Given the description of an element on the screen output the (x, y) to click on. 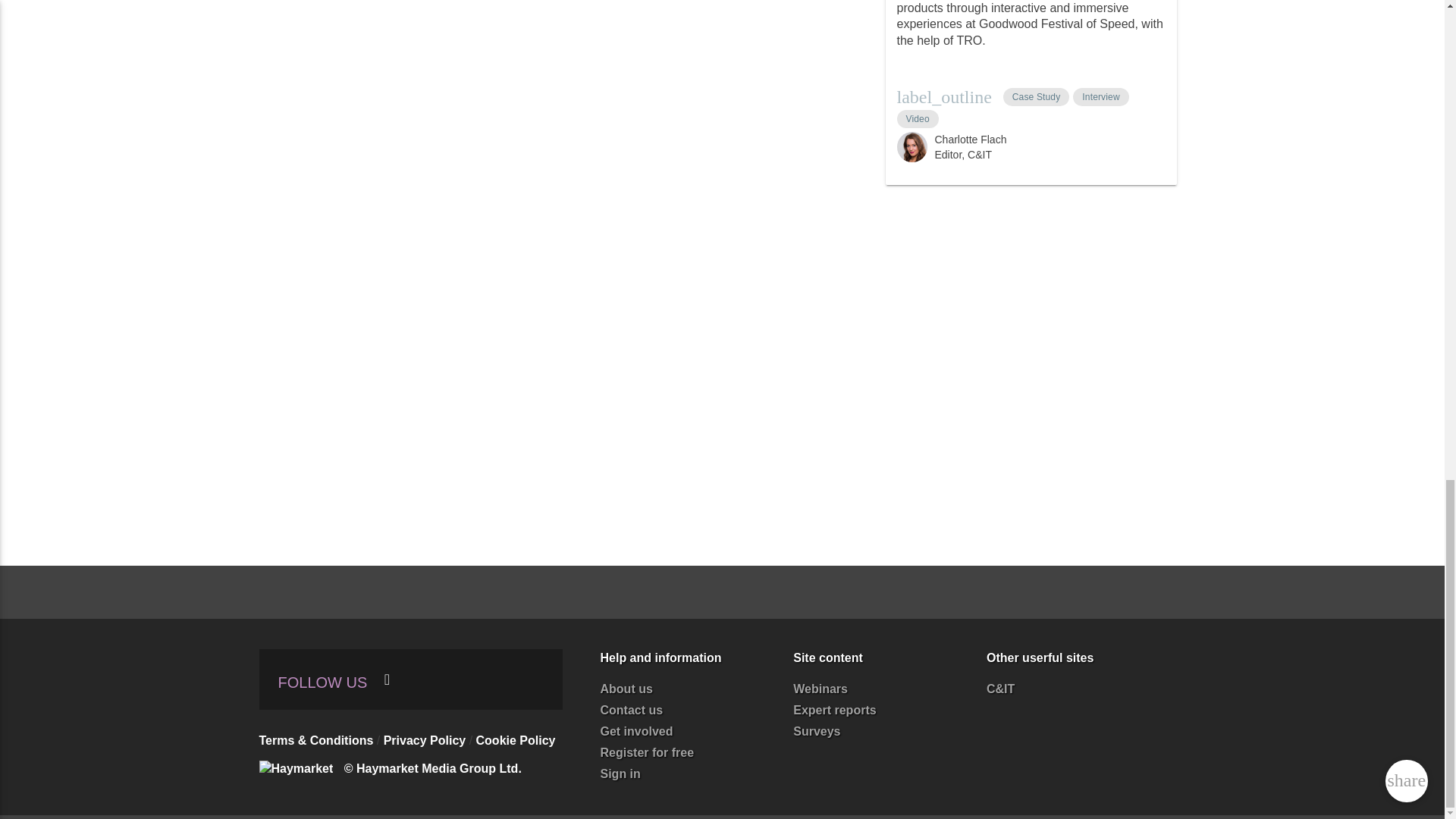
Get involved (635, 730)
Surveys (816, 730)
Contact us (631, 709)
About us (625, 688)
Privacy Policy (424, 739)
Expert reports (834, 709)
Register for free (646, 752)
Haymarket (299, 768)
Webinars (820, 688)
